Given the description of an element on the screen output the (x, y) to click on. 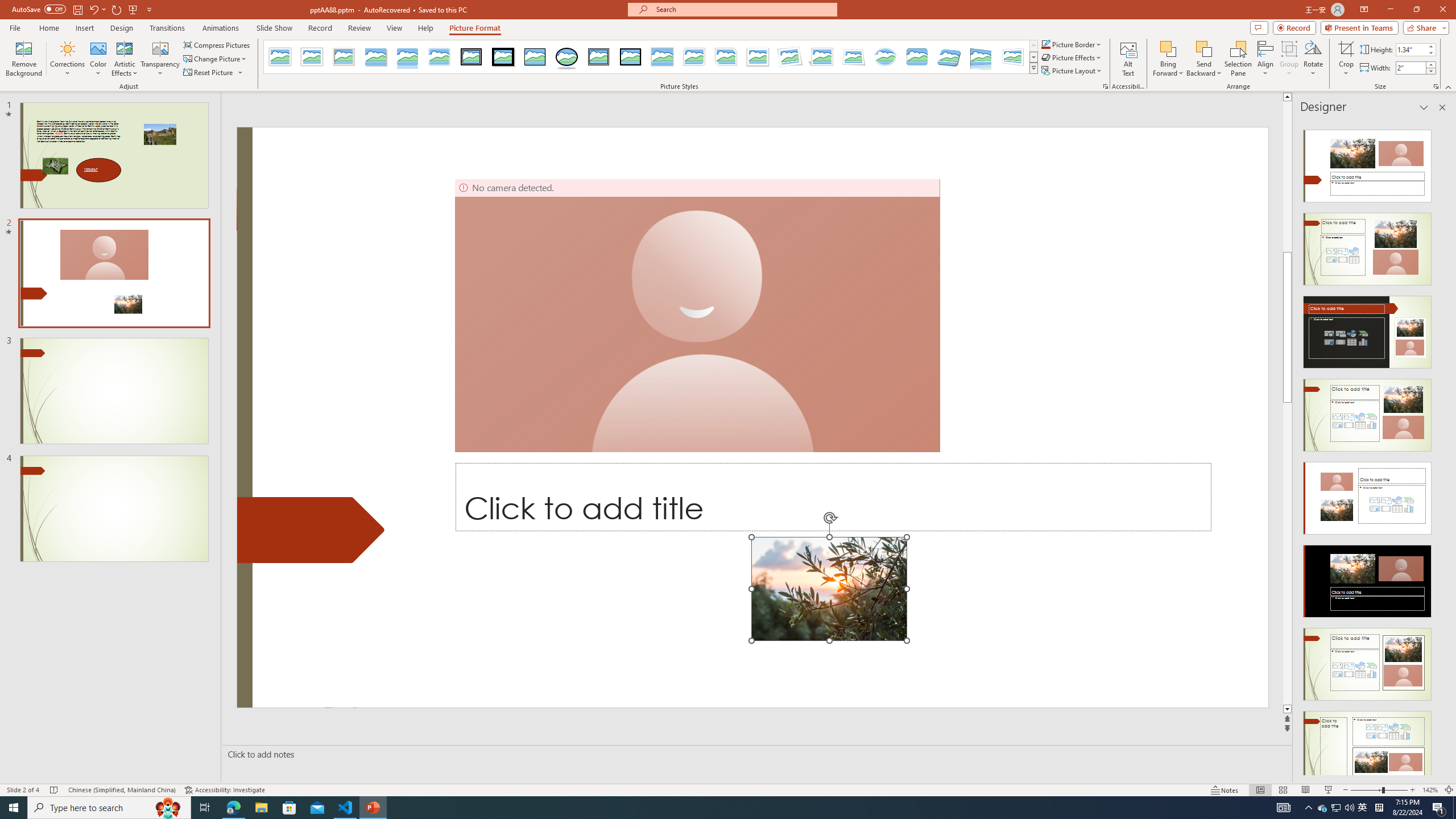
Transparency (160, 58)
Less (1430, 70)
Change Picture (216, 58)
Thick Matte, Black (503, 56)
Quick Styles (1033, 67)
Title TextBox (833, 496)
Send Backward (1204, 58)
Recommended Design: Design Idea (1366, 162)
Page up (1450, 176)
Size and Position... (1435, 85)
